Given the description of an element on the screen output the (x, y) to click on. 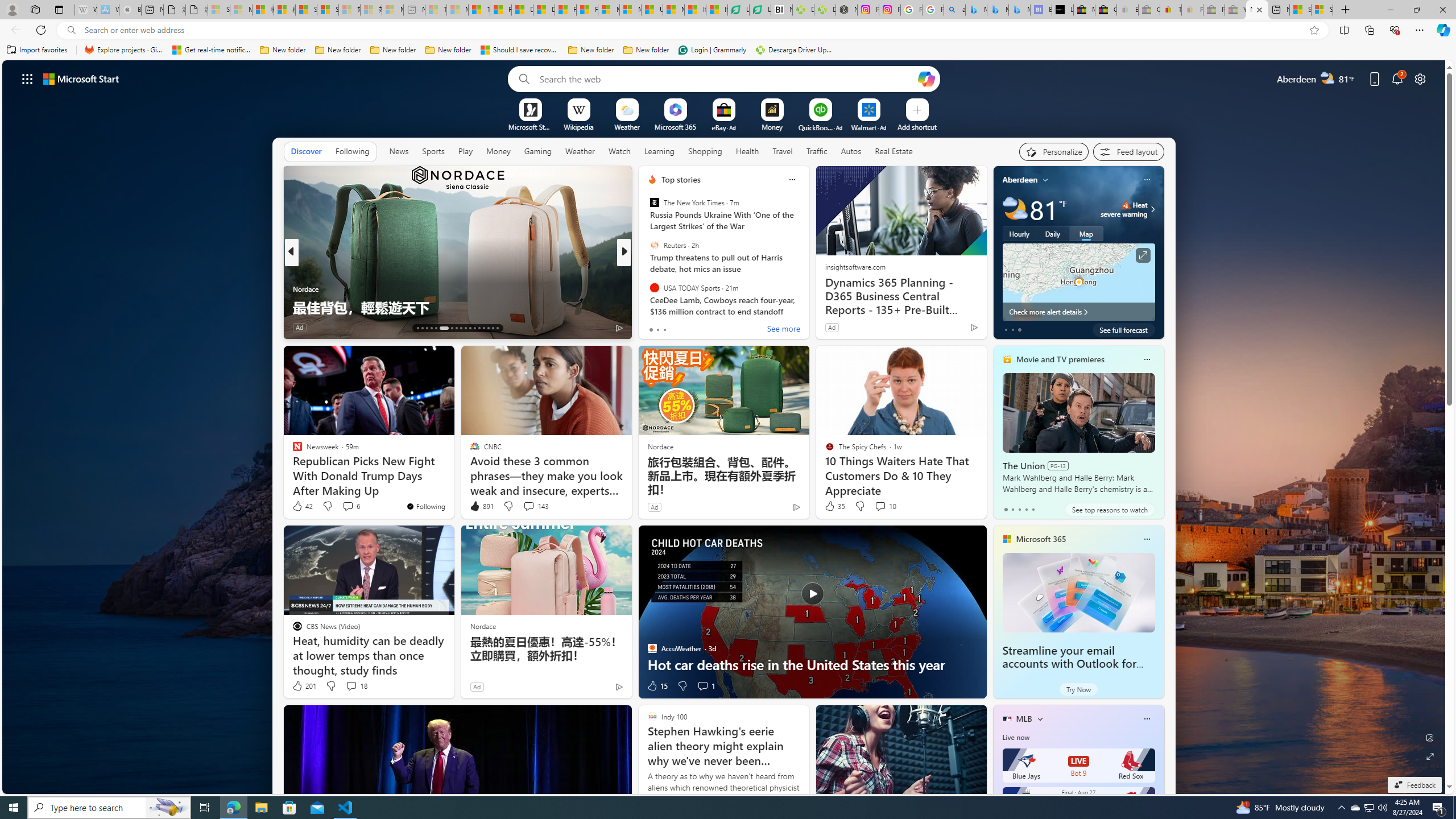
Try Now (1078, 689)
View comments 143 Comment (528, 505)
tab-3 (1025, 509)
13 Smells Ants Absolutely Hate (807, 307)
Payments Terms of Use | eBay.com - Sleeping (1192, 9)
255 Like (654, 327)
Business Insider (647, 270)
Import favorites (36, 49)
